Given the description of an element on the screen output the (x, y) to click on. 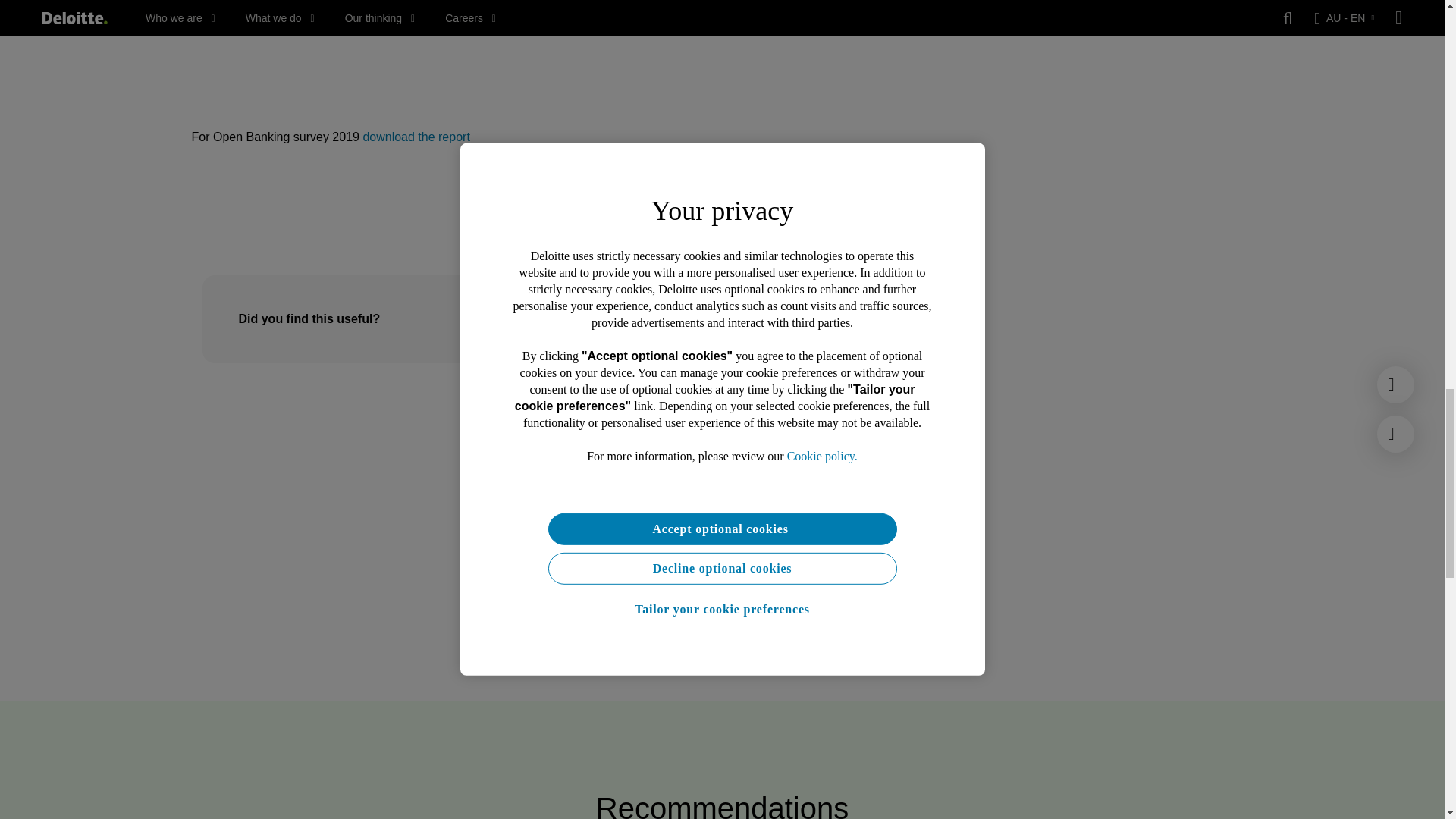
connect via linkedin (707, 545)
au-fsi-open-banking-survey-2019-infographic-151019.jpg (500, 38)
